Given the description of an element on the screen output the (x, y) to click on. 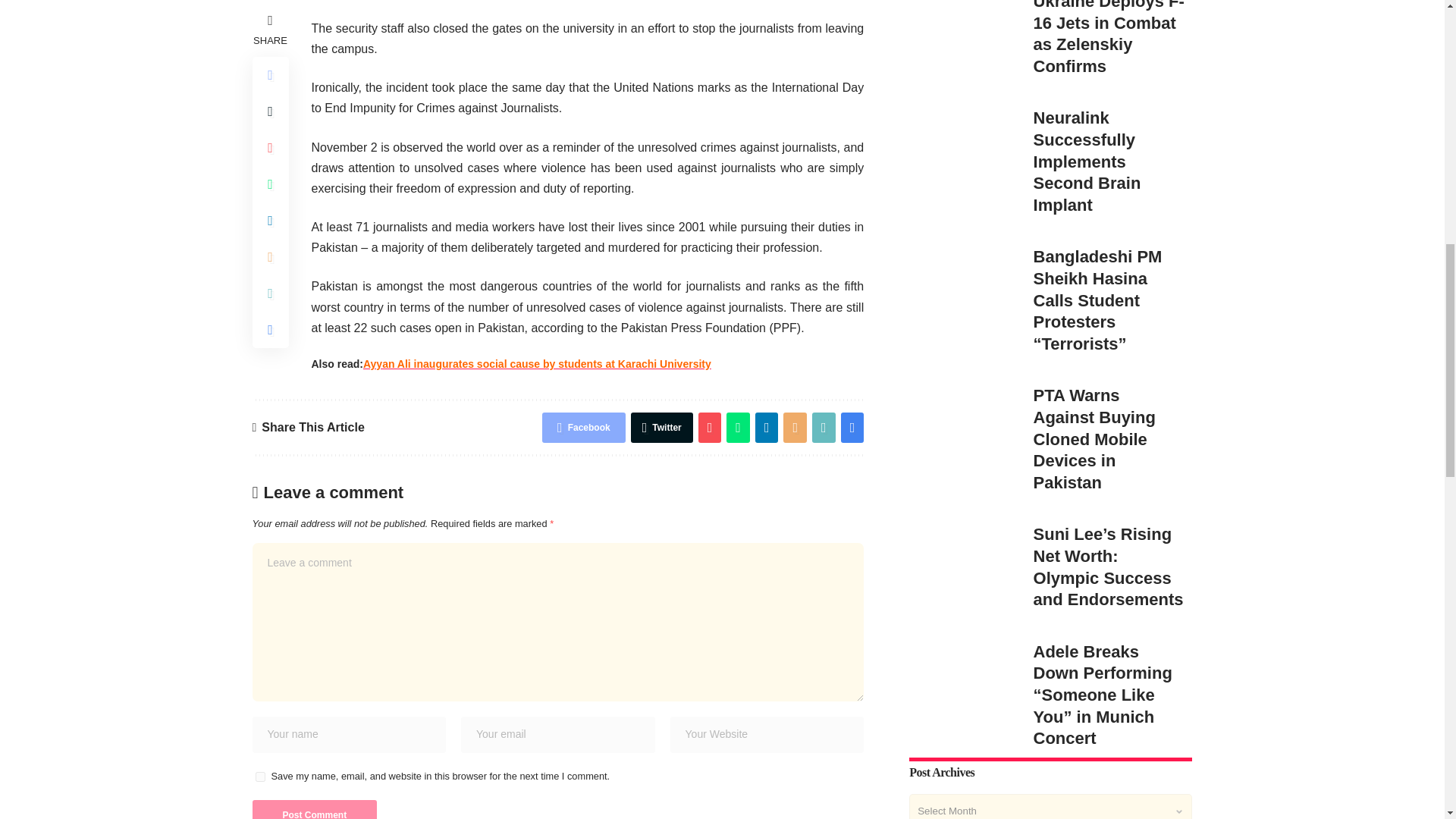
yes (259, 777)
PTA Warns Against Buying Cloned Mobile Devices in Pakistan (963, 234)
Post Comment (314, 809)
